Given the description of an element on the screen output the (x, y) to click on. 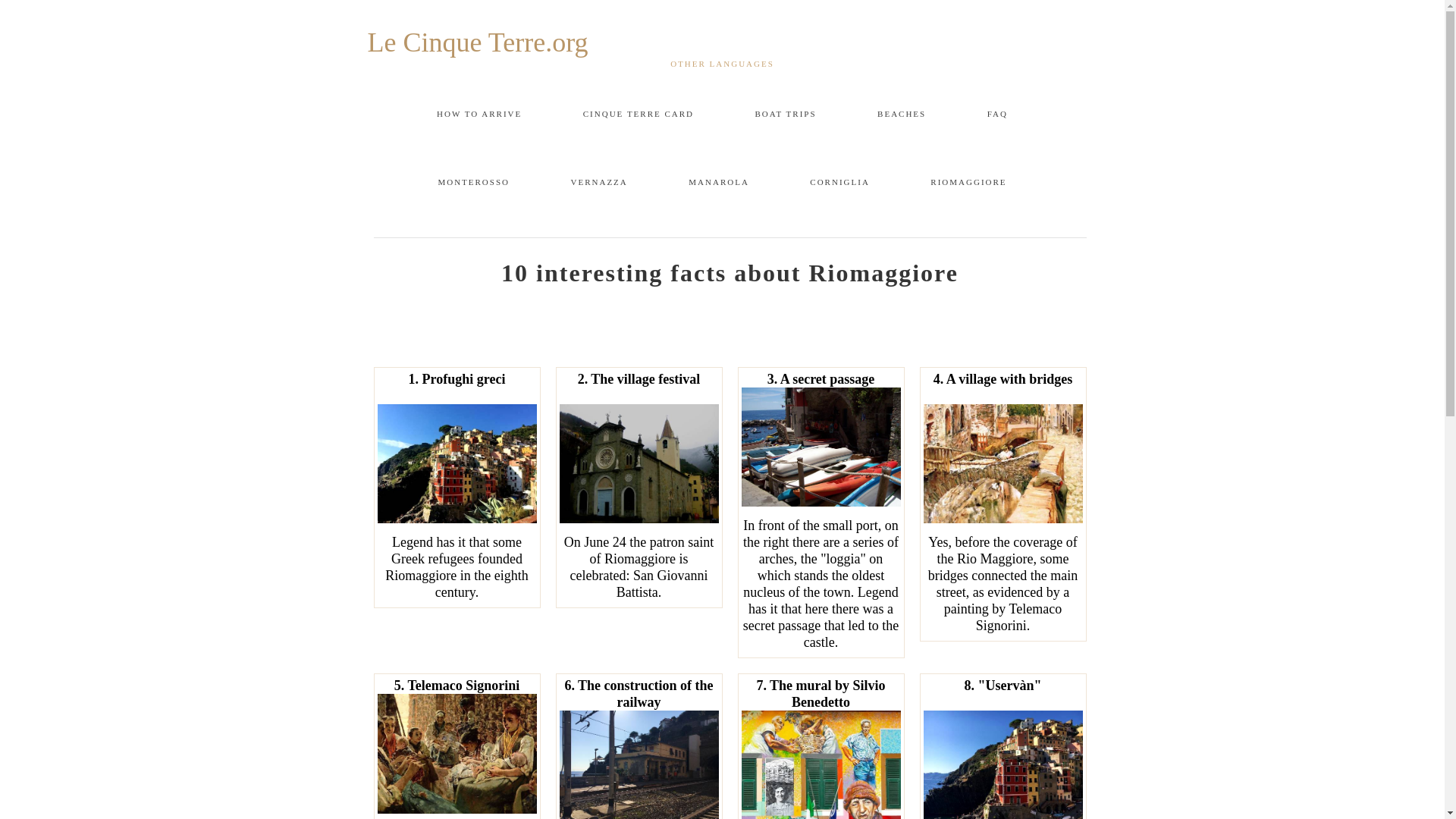
BOAT TRIPS (785, 113)
Le Cinque Terre.org (721, 41)
Corniglia (839, 182)
Manarola (718, 182)
Vernazza (598, 182)
CORNIGLIA (839, 182)
Boat trips Cinque Terre (785, 113)
OTHER LANGUAGES (721, 63)
Beaches in the Cinque Terre (901, 113)
Frequently asked questions about Cinque Terre (997, 113)
